Given the description of an element on the screen output the (x, y) to click on. 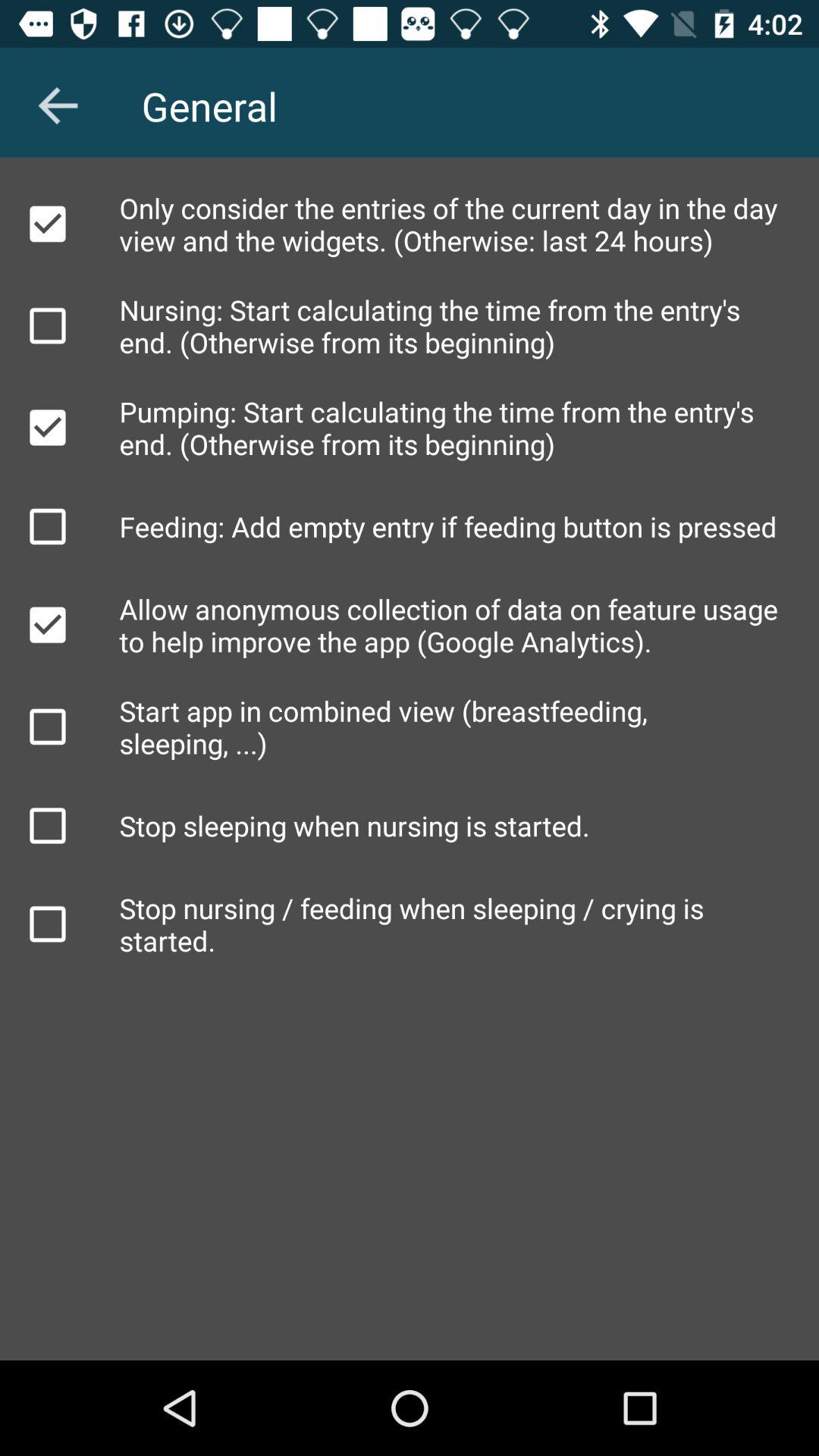
go back (57, 105)
